Given the description of an element on the screen output the (x, y) to click on. 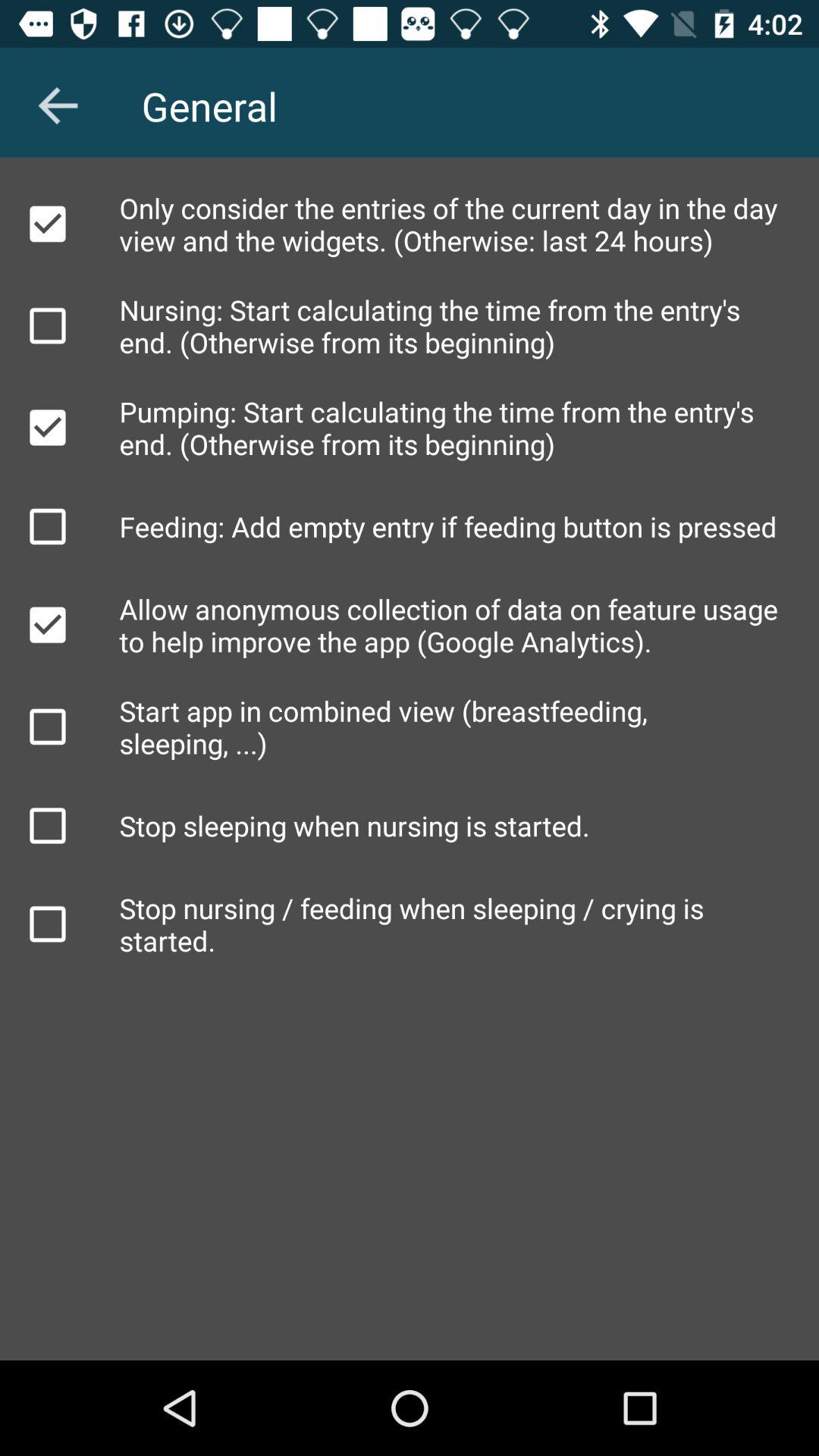
go back (57, 105)
